Given the description of an element on the screen output the (x, y) to click on. 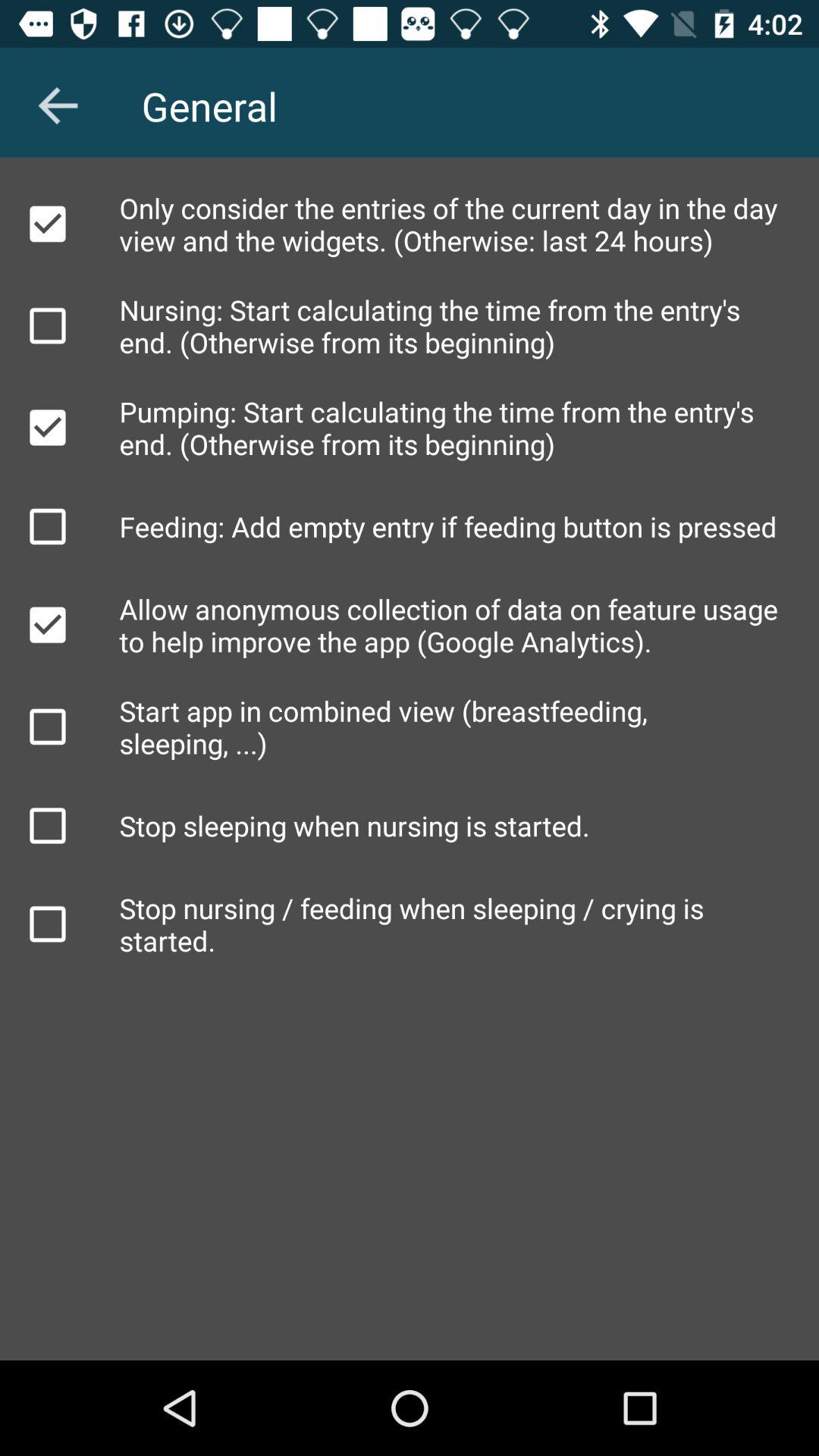
go back (57, 105)
